Given the description of an element on the screen output the (x, y) to click on. 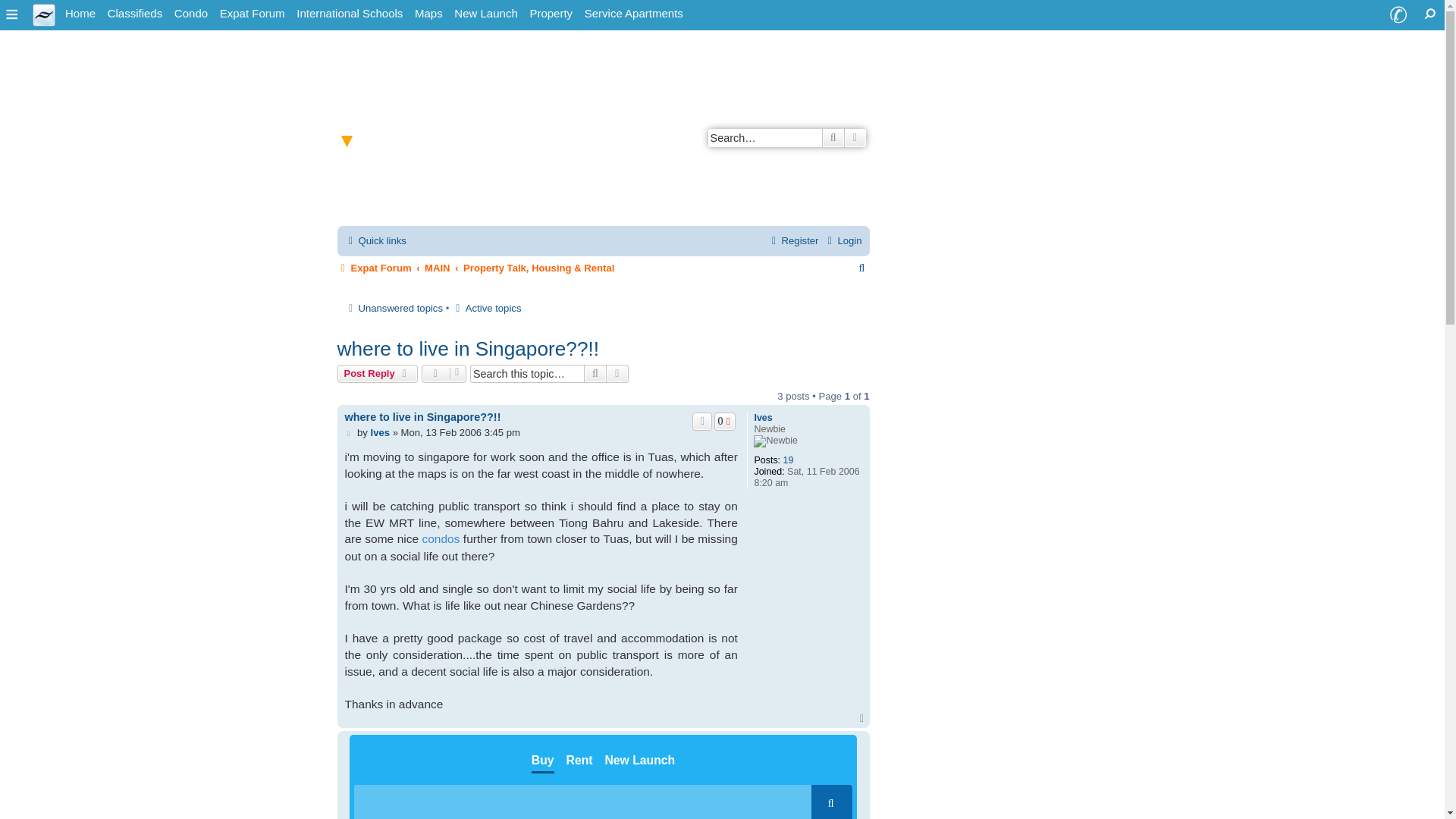
Singapore Service Apartments (633, 13)
Home (80, 13)
Singapore Classified Ads (135, 13)
Singapore Expats (44, 13)
Property (550, 13)
Contact Us (1397, 15)
New Launch (485, 13)
Singapore International Schools (349, 13)
New Property Launch (485, 13)
Singapore Property (550, 13)
Singapore Expats (80, 13)
Singapore Expats Forum (252, 13)
Singapore Street Maps (428, 13)
Expat Forum (252, 13)
Maps (428, 13)
